Given the description of an element on the screen output the (x, y) to click on. 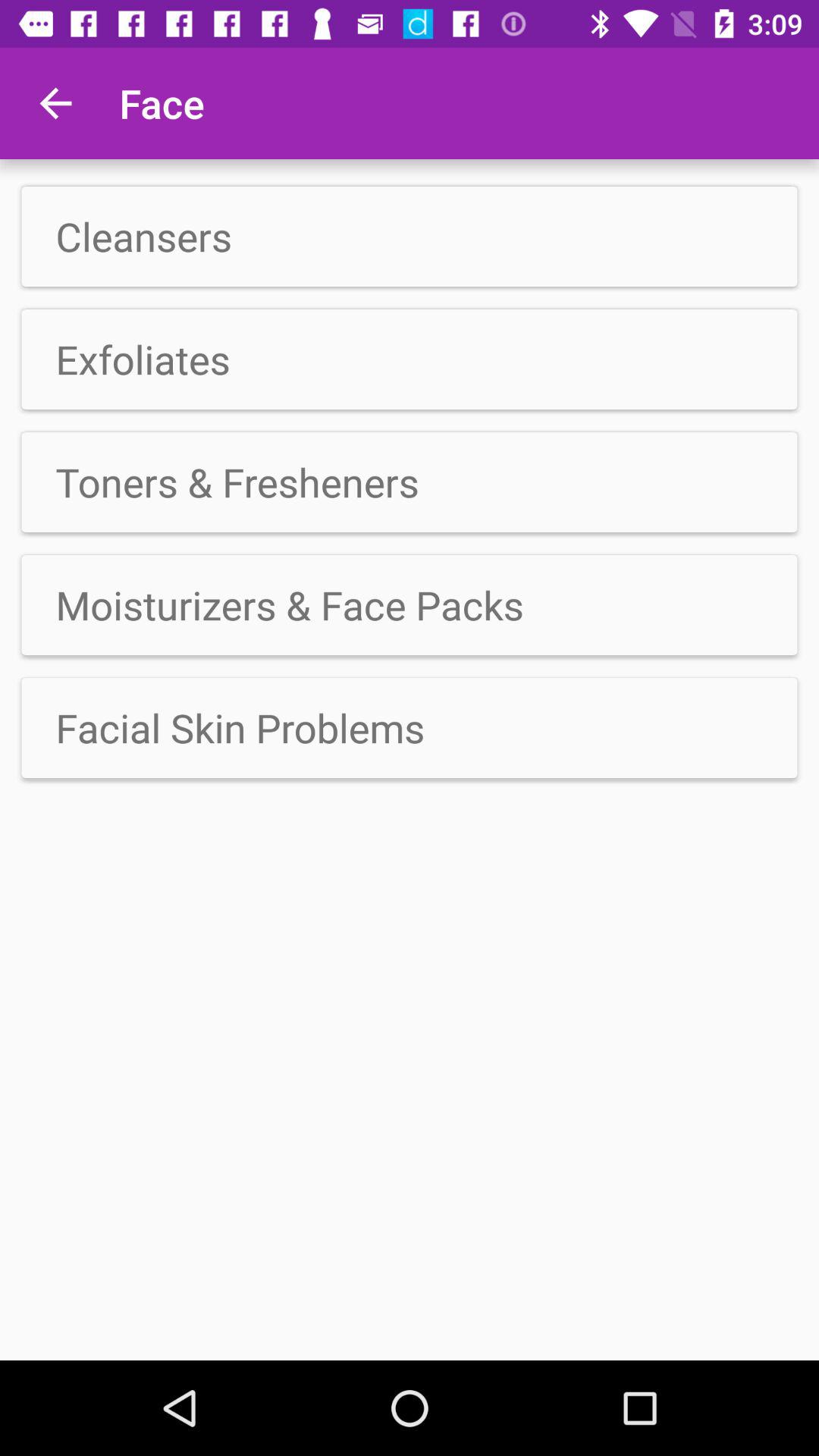
launch icon below the cleansers (409, 359)
